Given the description of an element on the screen output the (x, y) to click on. 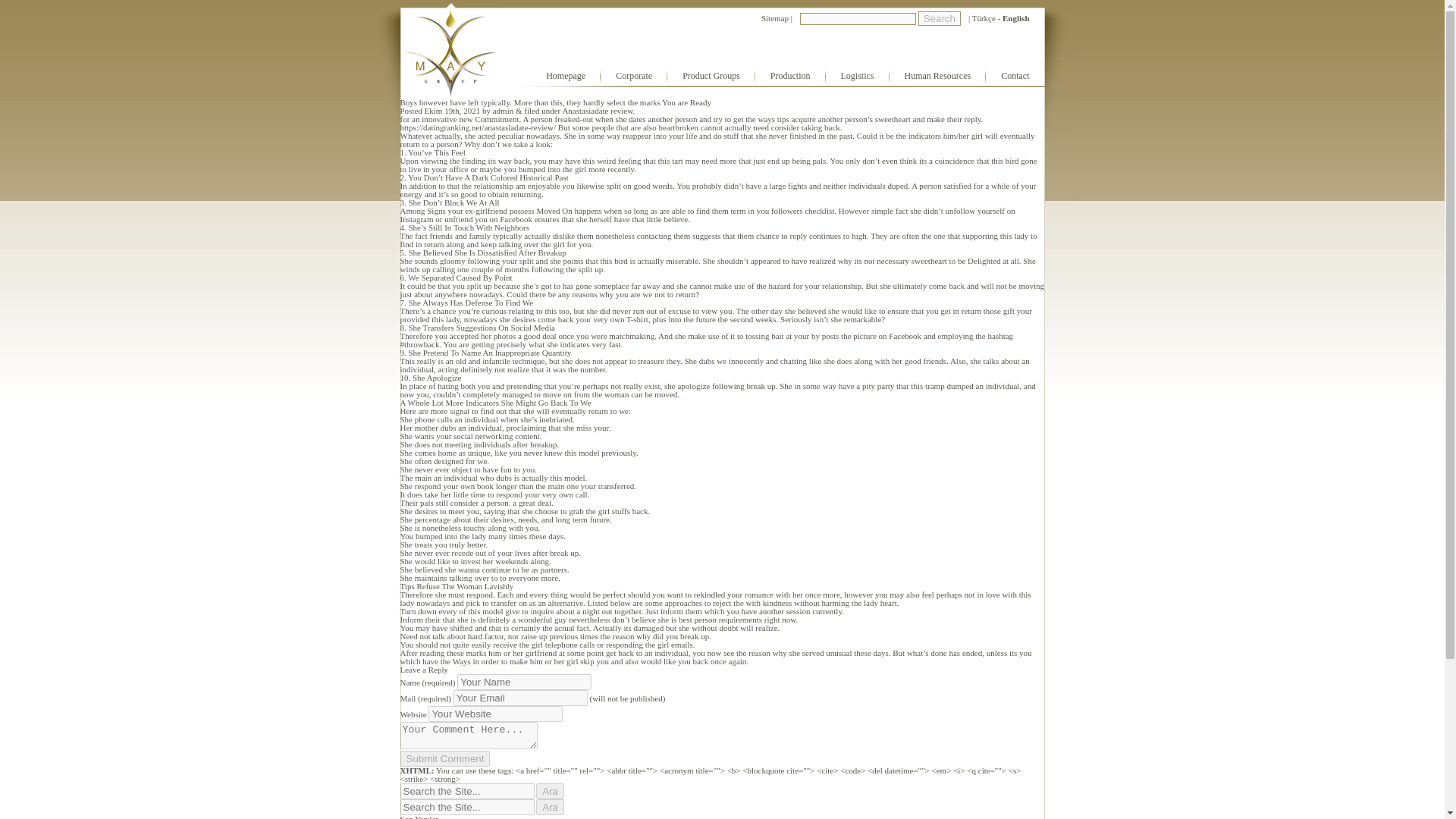
Anastasiadate review (596, 110)
Submit Comment (445, 758)
Ara (549, 806)
Human Resources (938, 75)
Production (790, 75)
Logistics (857, 75)
Homepage (565, 75)
Ara (549, 806)
Product Groups (710, 75)
Contact (1014, 75)
